Given the description of an element on the screen output the (x, y) to click on. 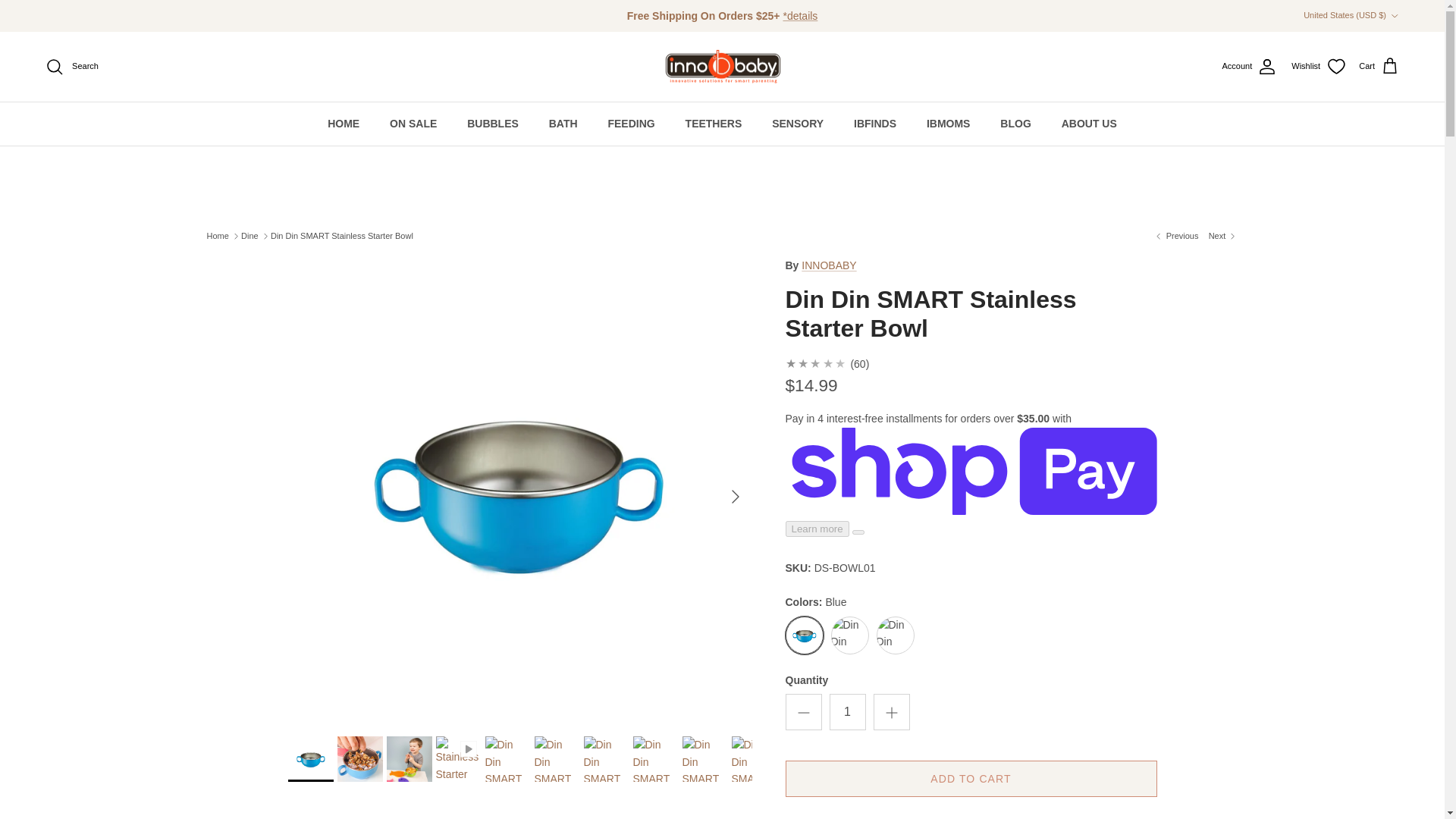
1 (847, 711)
FEEDING (631, 123)
BATH (563, 123)
Cart (1378, 66)
innobaby (722, 66)
Search (72, 66)
HOME (343, 123)
Account (1249, 66)
Wishlist (1317, 66)
ON SALE (412, 123)
